Given the description of an element on the screen output the (x, y) to click on. 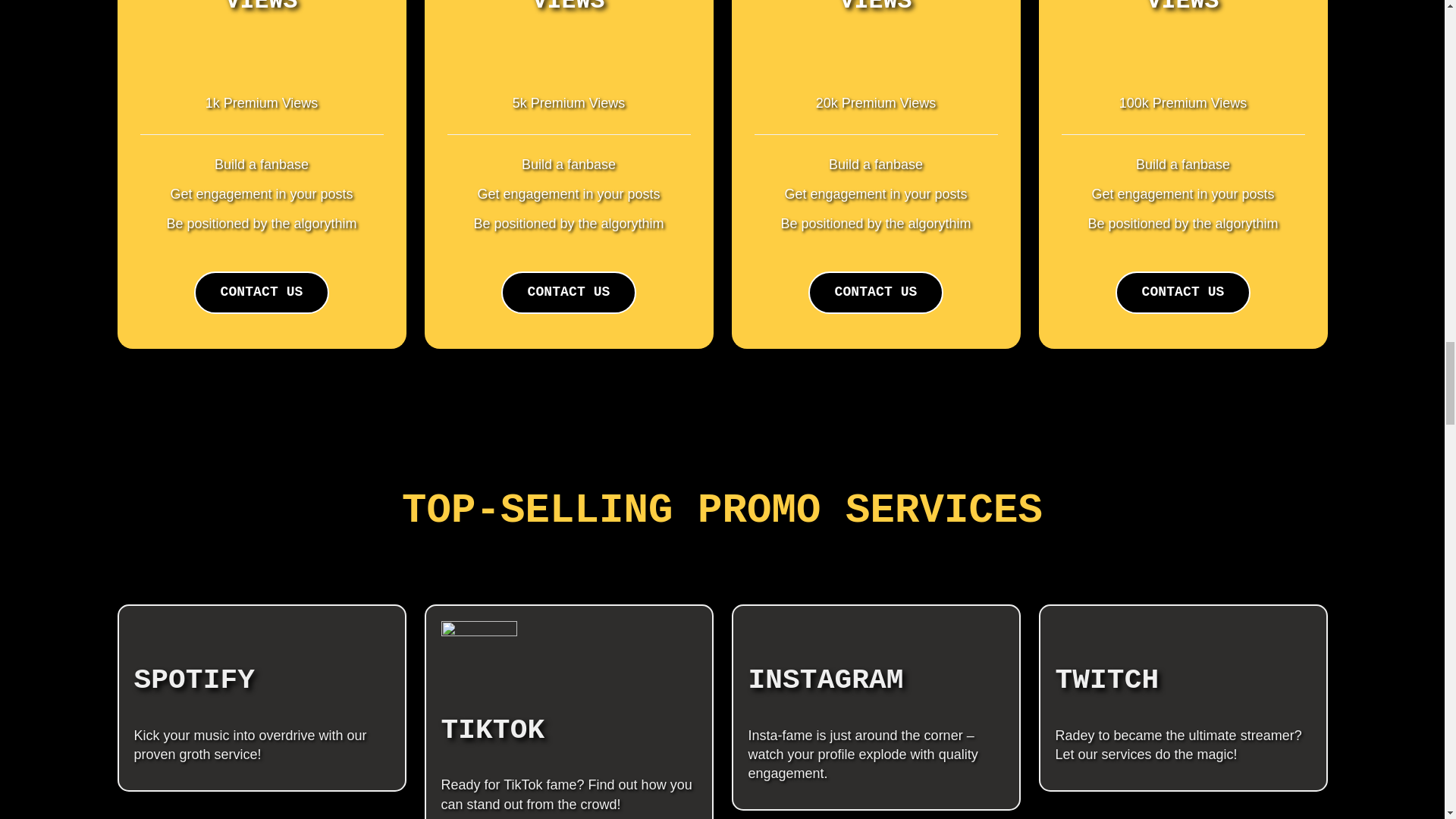
Contact (261, 291)
Contact (567, 291)
Contact (1182, 291)
Contact (875, 291)
